Given the description of an element on the screen output the (x, y) to click on. 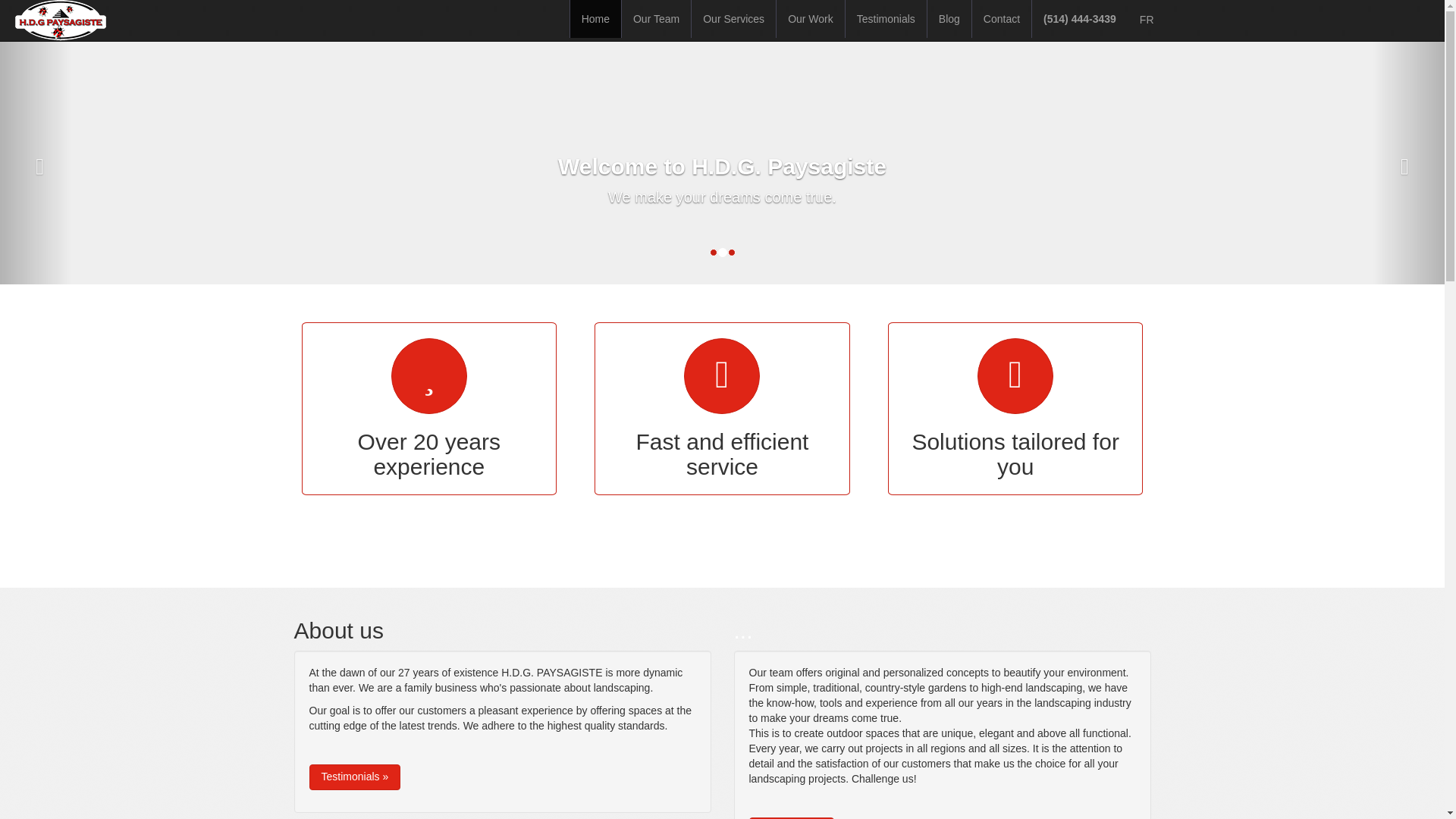
Blog (949, 18)
Our Work (810, 18)
Contact (1001, 18)
Testimonials (885, 18)
Home (595, 18)
FR (1146, 20)
Our Team (655, 18)
Our Services (733, 18)
